Given the description of an element on the screen output the (x, y) to click on. 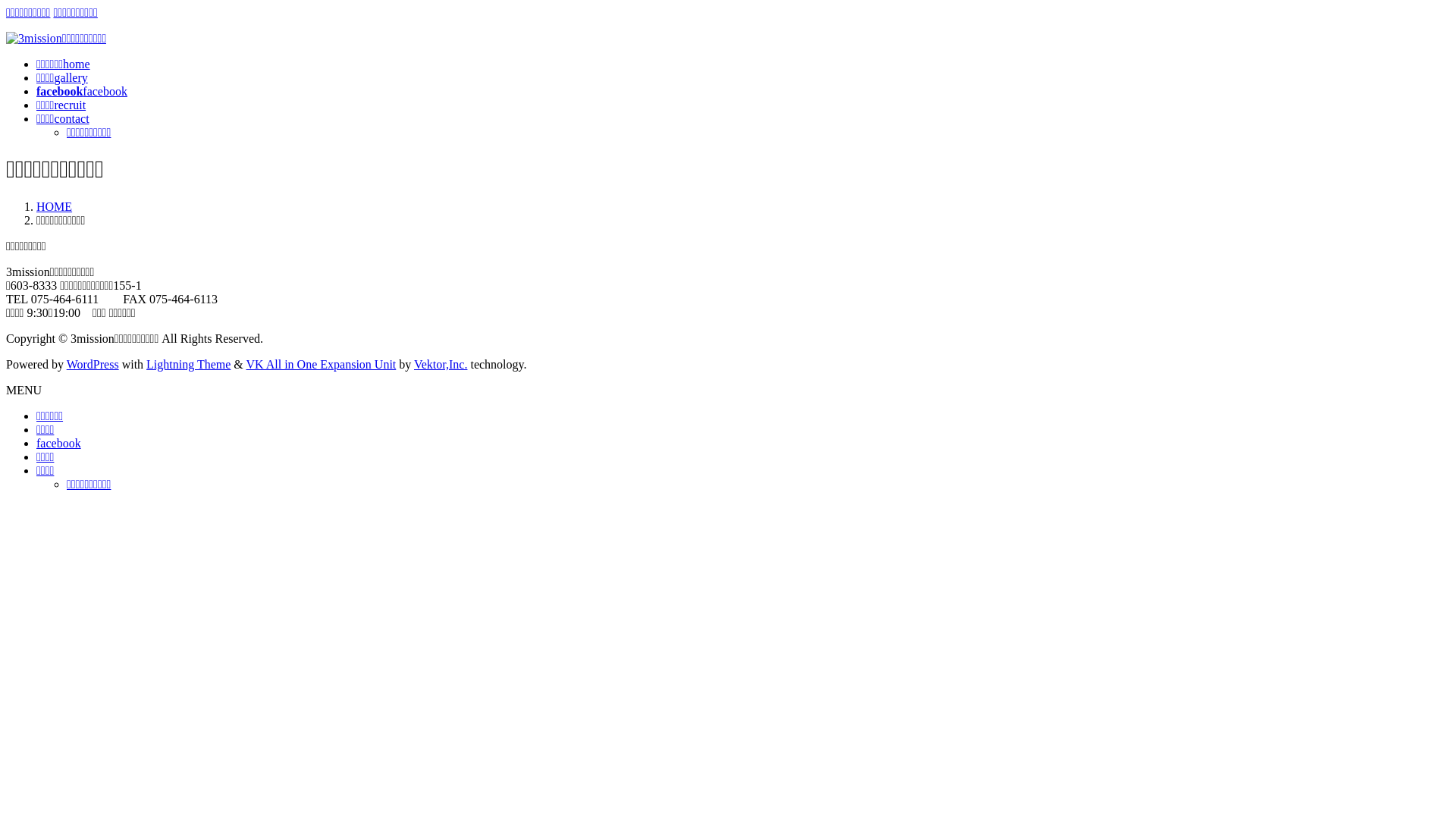
VK All in One Expansion Unit Element type: text (320, 363)
Vektor,Inc. Element type: text (440, 363)
WordPress Element type: text (92, 363)
Lightning Theme Element type: text (188, 363)
HOME Element type: text (54, 206)
facebookfacebook Element type: text (81, 90)
facebook Element type: text (58, 442)
